Given the description of an element on the screen output the (x, y) to click on. 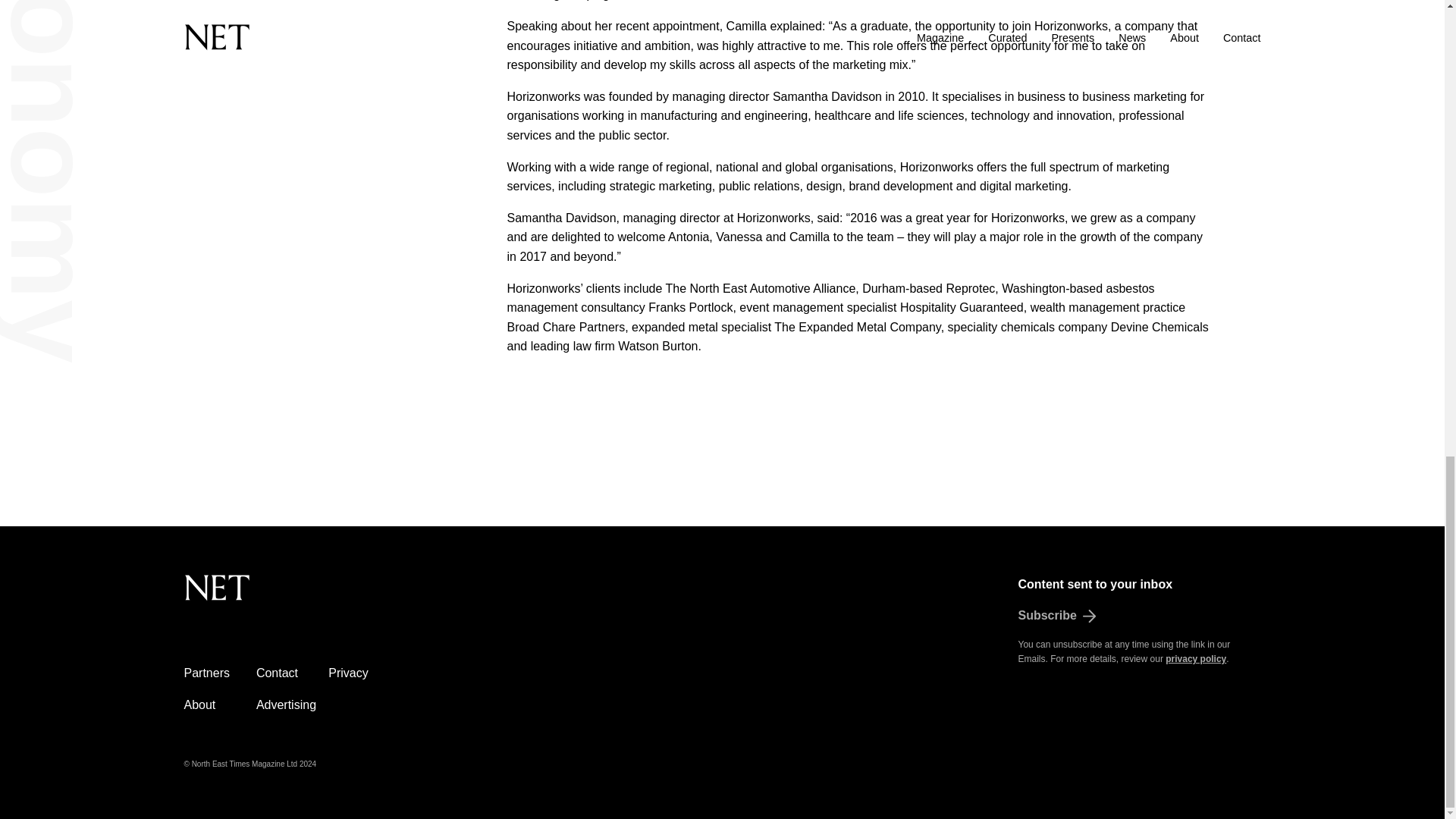
Privacy (348, 672)
Read our full privacy notice (1195, 658)
Subscribe to the North East Times Magazine newsletter (1138, 615)
Partners (205, 672)
Subscribe (1138, 615)
About (199, 704)
Advertising (285, 704)
privacy policy (1195, 658)
Contact (277, 672)
Return to the top of this page (293, 595)
